Given the description of an element on the screen output the (x, y) to click on. 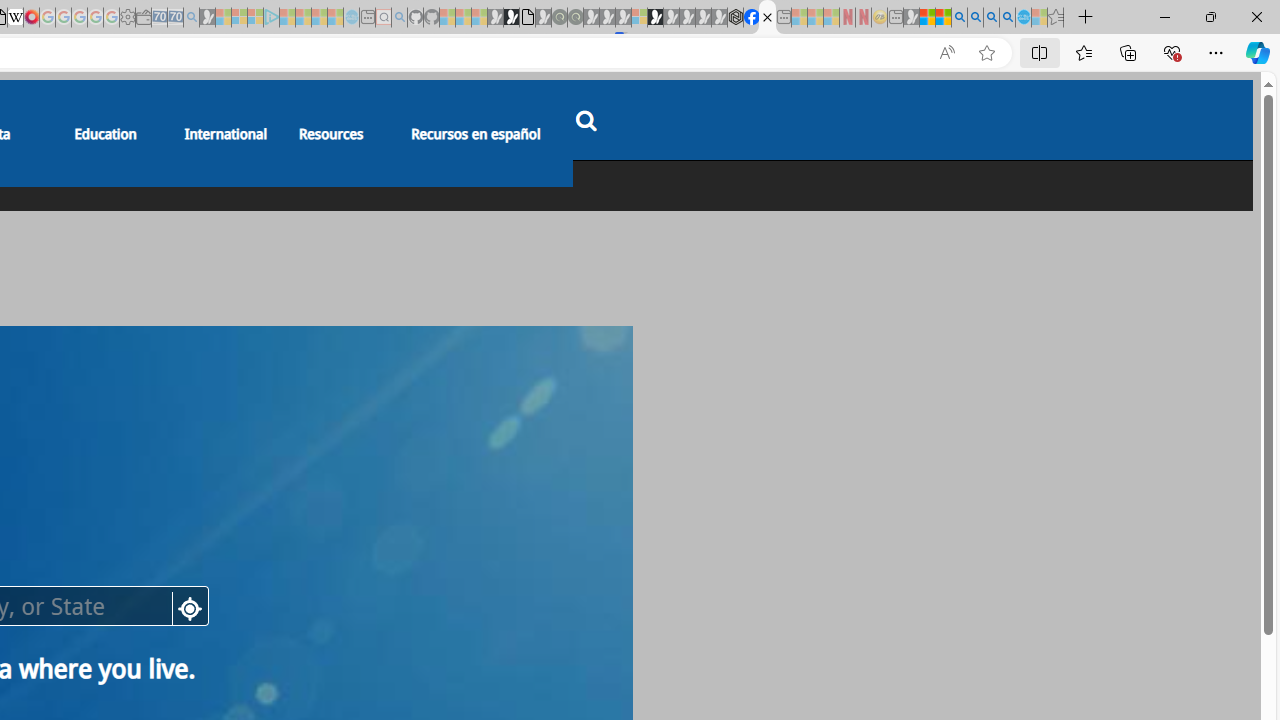
Bing AI - Search (959, 17)
